Given the description of an element on the screen output the (x, y) to click on. 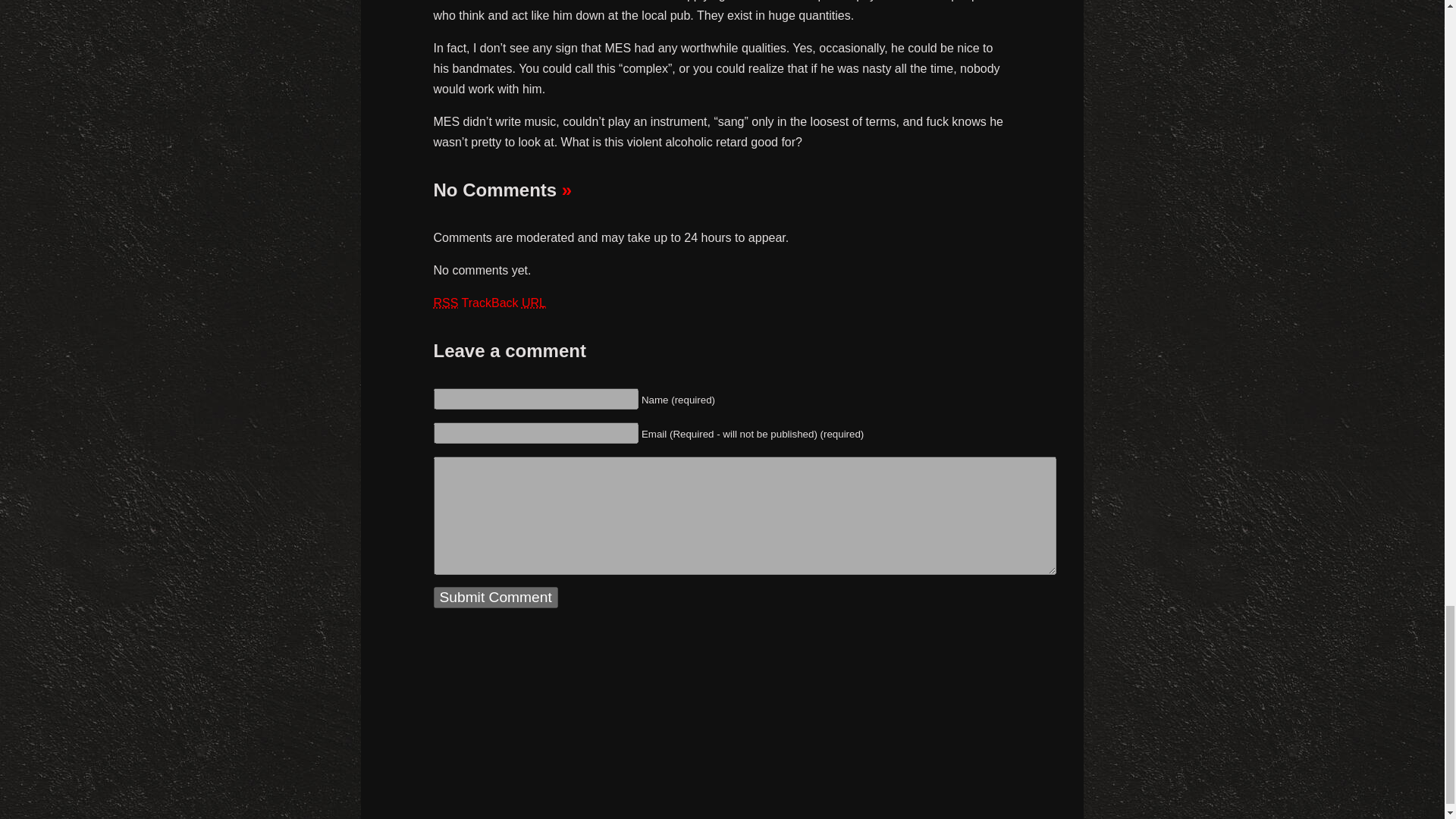
RSS (445, 302)
TrackBack URL (503, 302)
Submit Comment (495, 597)
Leave a comment (567, 189)
Really Simple Syndication (445, 302)
Universal Resource Locator (533, 302)
Submit Comment (495, 597)
